Given the description of an element on the screen output the (x, y) to click on. 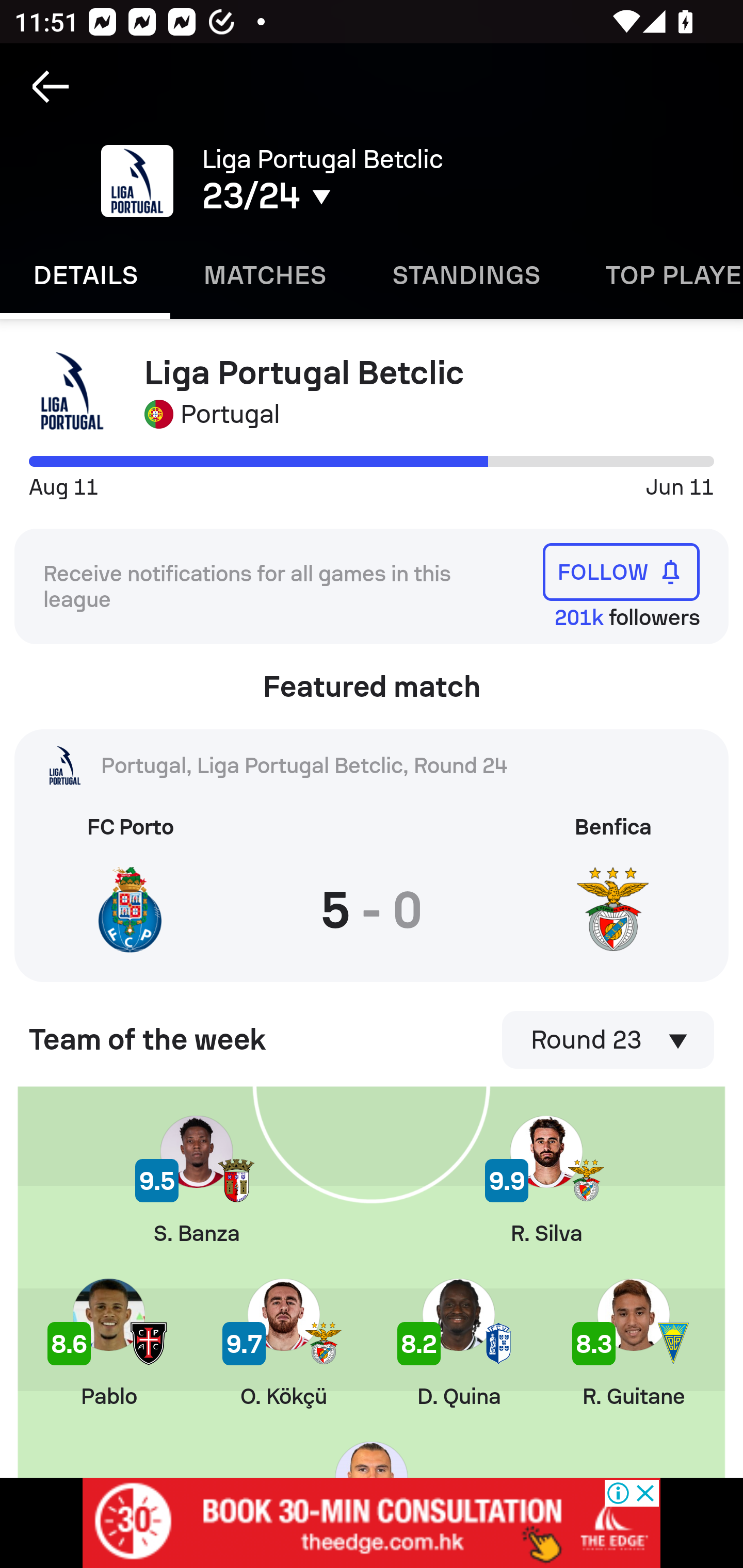
Navigate up (50, 86)
23/24 (350, 195)
Matches MATCHES (264, 275)
Standings STANDINGS (465, 275)
Top players TOP PLAYERS (657, 275)
FOLLOW (621, 571)
Round 23 (608, 1040)
S. Banza (196, 1181)
R. Silva (546, 1181)
Pablo (108, 1343)
O. Kökçü (283, 1343)
D. Quina (458, 1343)
R. Guitane (633, 1343)
Advertisement (371, 1522)
